Given the description of an element on the screen output the (x, y) to click on. 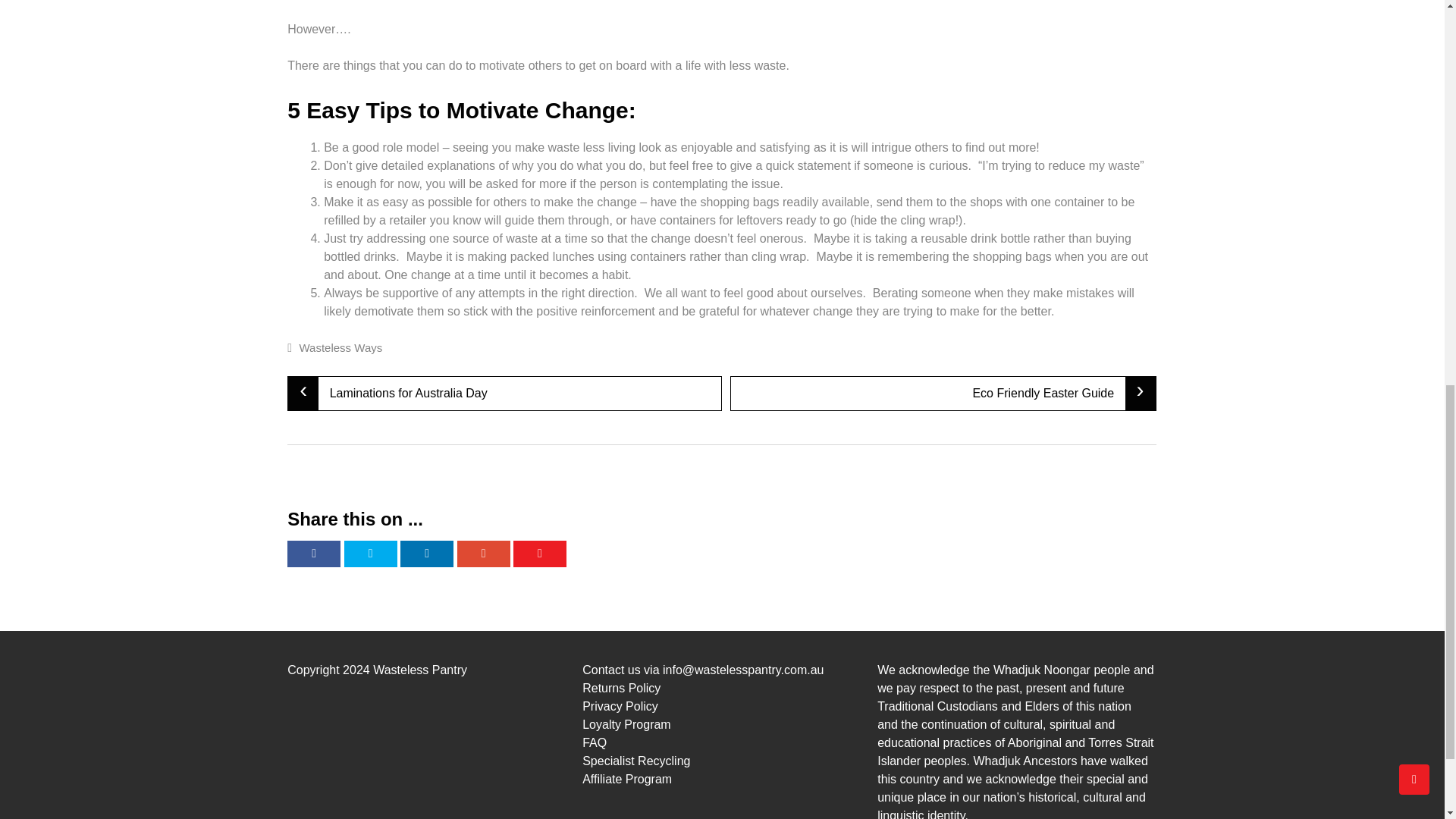
FAQ (594, 742)
Returns Policy (621, 687)
Specialist Recycling (636, 760)
Wasteless Ways (339, 347)
Affiliate Program (626, 779)
Privacy Policy (620, 706)
Loyalty Program (626, 724)
